Given the description of an element on the screen output the (x, y) to click on. 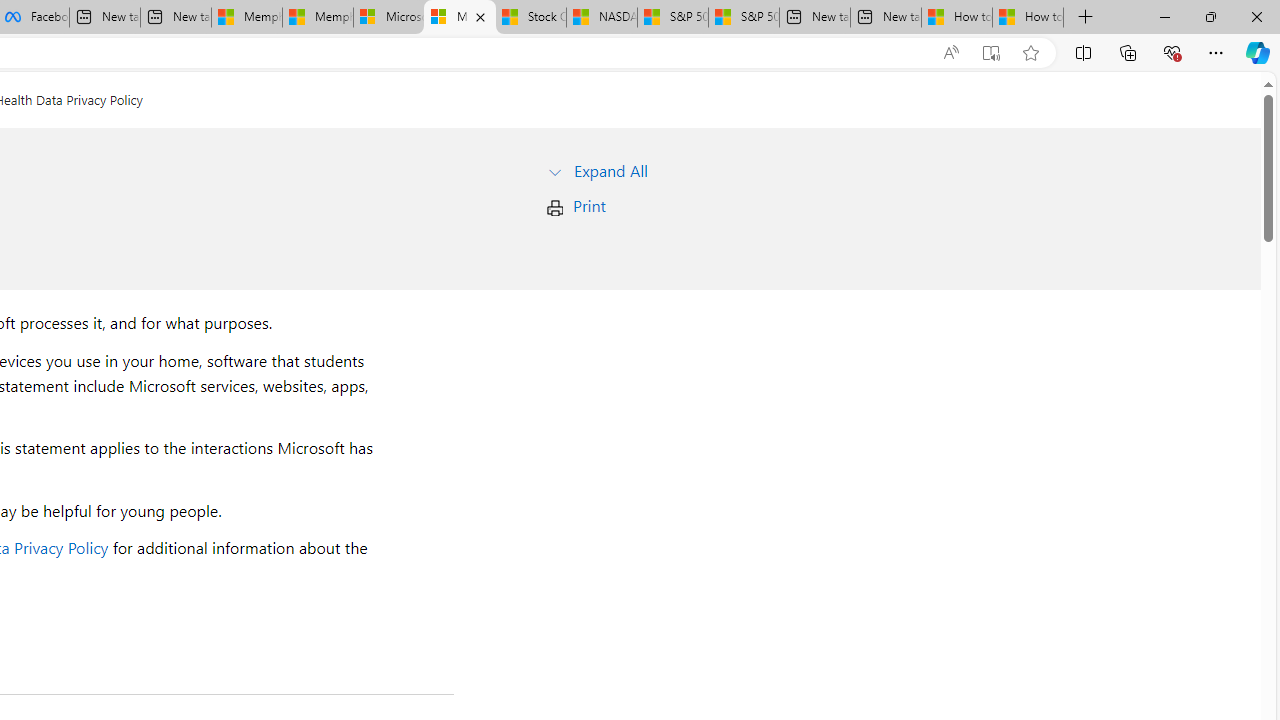
Enter Immersive Reader (F9) (991, 53)
Print (589, 205)
Expand All (610, 170)
